Given the description of an element on the screen output the (x, y) to click on. 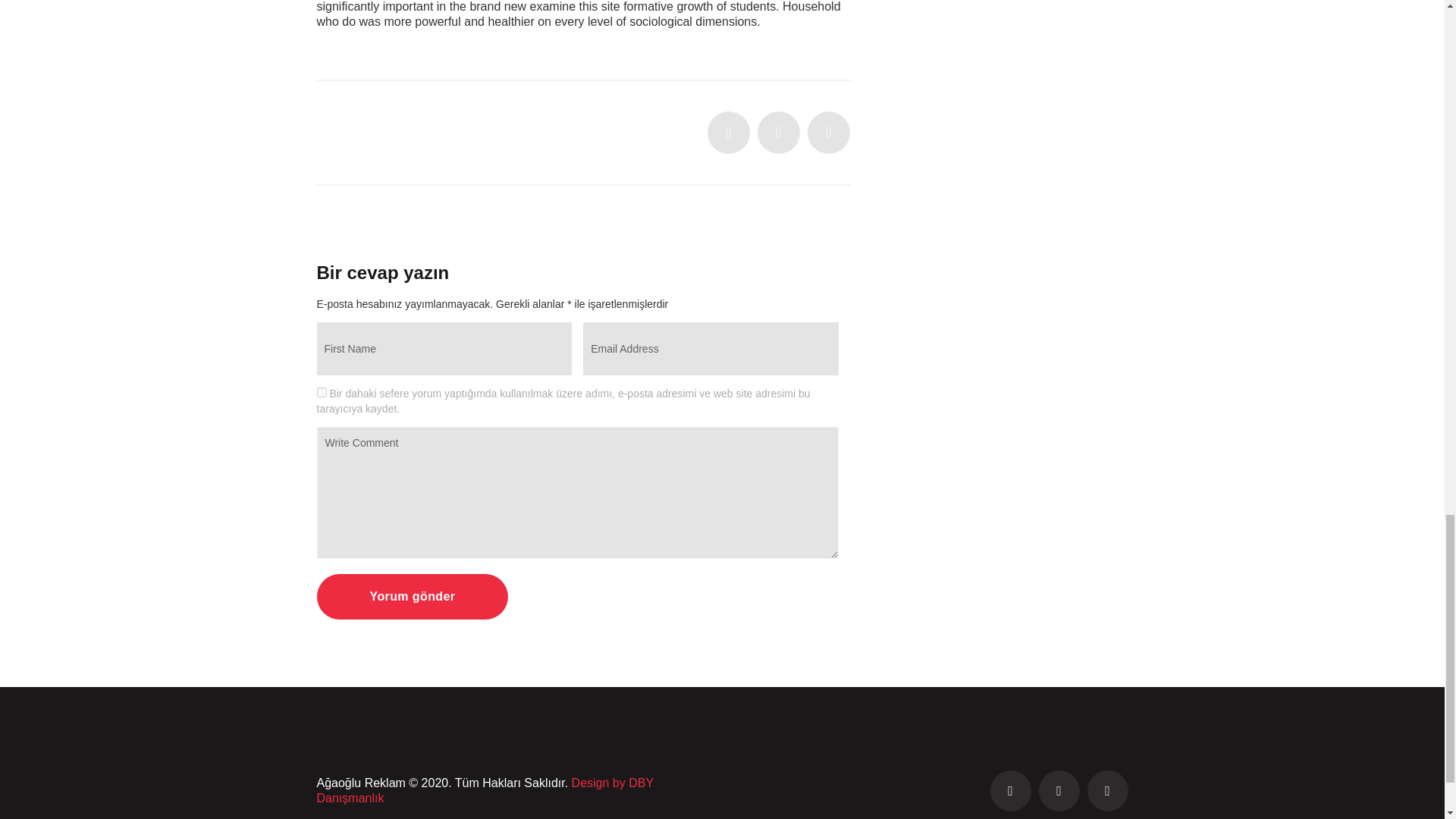
Social Share whatsapp (829, 132)
Social Share facebook (778, 132)
yes (321, 392)
examine this site (574, 6)
Social Share twitter (728, 132)
